Given the description of an element on the screen output the (x, y) to click on. 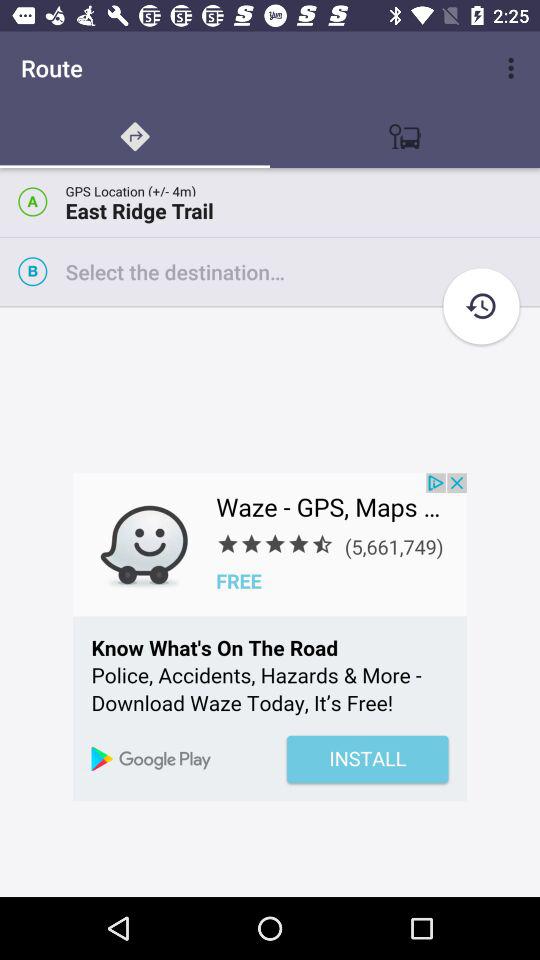
select destination (302, 271)
